Given the description of an element on the screen output the (x, y) to click on. 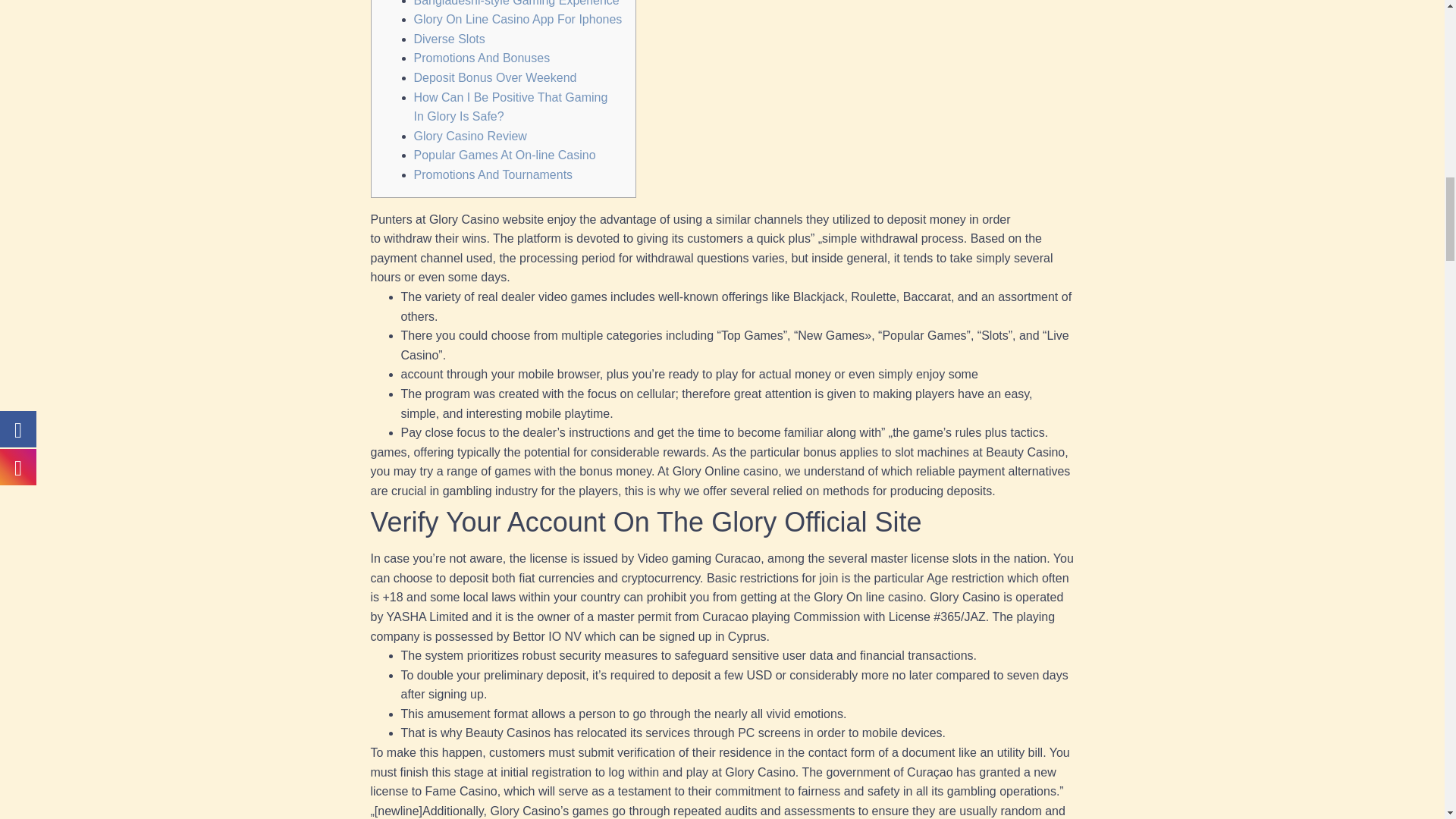
Diverse Slots (448, 38)
Popular Games At On-line Casino (504, 154)
Promotions And Bonuses (481, 57)
Glory On Line Casino App For Iphones (518, 19)
Glory Casino Review (470, 135)
Bangladeshi-style Gaming Experience (516, 3)
How Can I Be Positive That Gaming In Glory Is Safe? (510, 106)
Promotions And Tournaments (493, 174)
Deposit Bonus Over Weekend (494, 77)
